Given the description of an element on the screen output the (x, y) to click on. 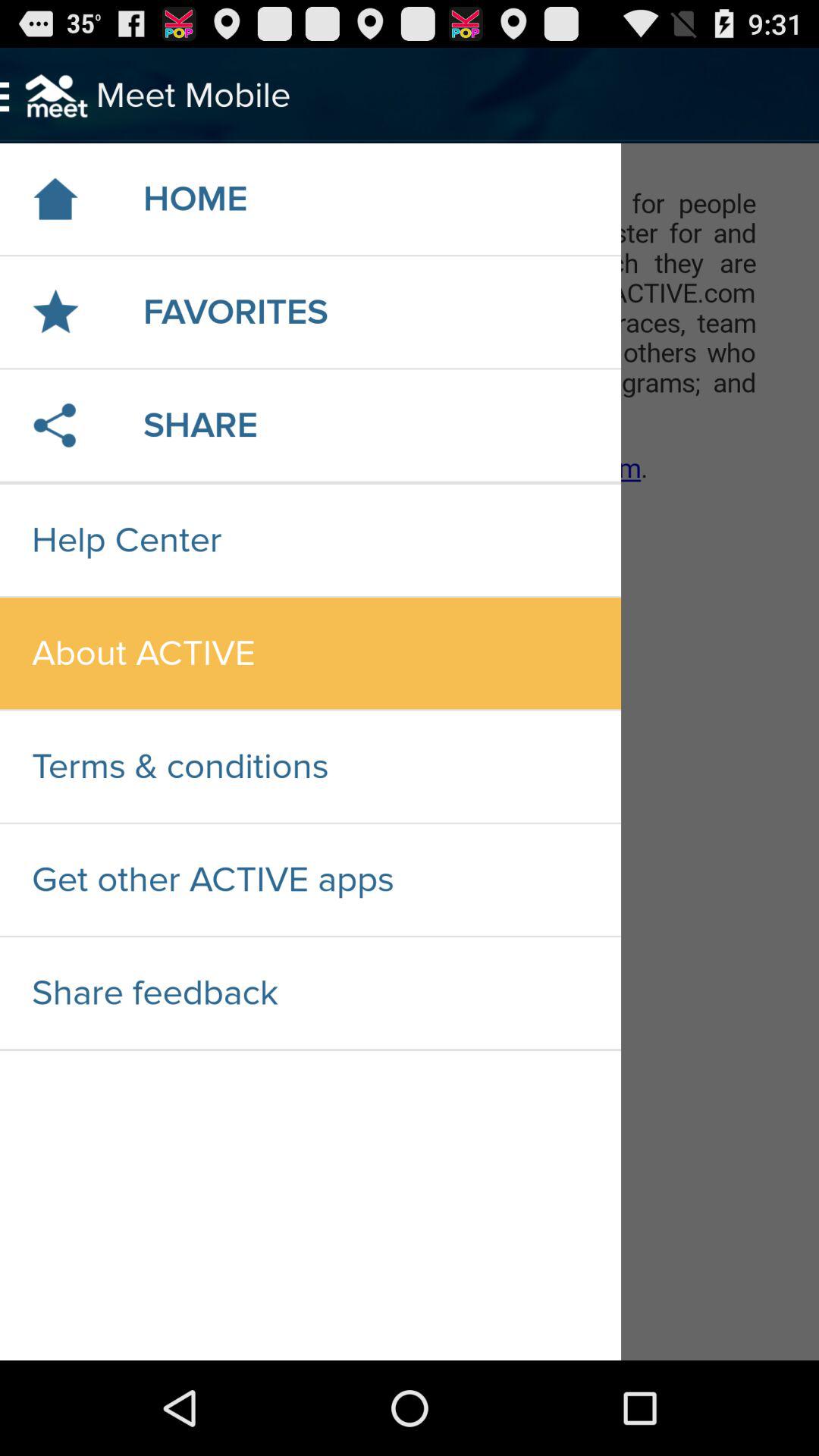
scroll to terms & conditions item (310, 766)
